Given the description of an element on the screen output the (x, y) to click on. 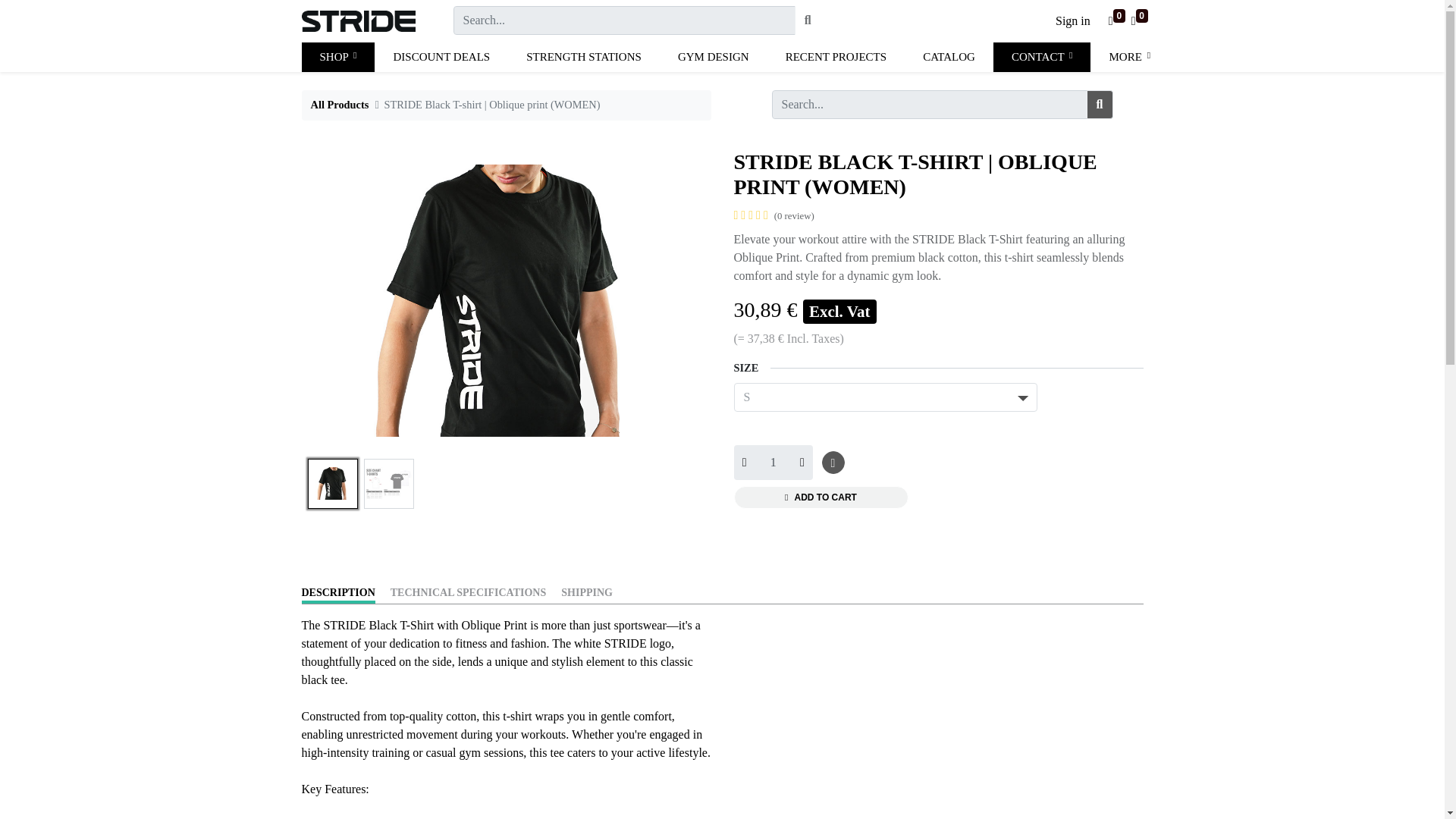
Search (807, 20)
SHOP (338, 57)
STRIDE Europe (357, 20)
Sign in (1072, 20)
1 (773, 462)
